Given the description of an element on the screen output the (x, y) to click on. 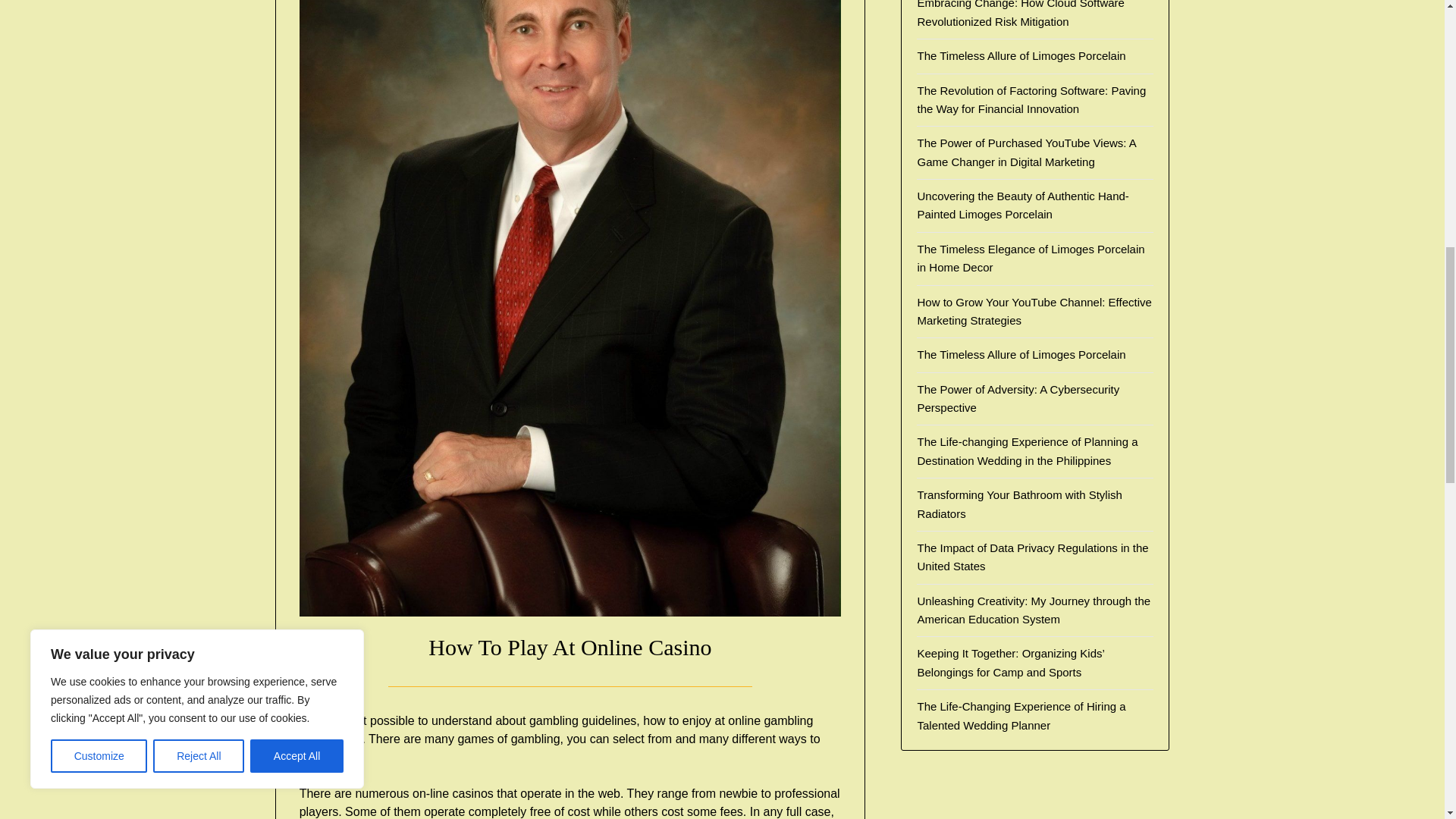
The Timeless Elegance of Limoges Porcelain in Home Decor (1030, 257)
The Timeless Allure of Limoges Porcelain (1021, 55)
The Timeless Allure of Limoges Porcelain (1021, 354)
